Given the description of an element on the screen output the (x, y) to click on. 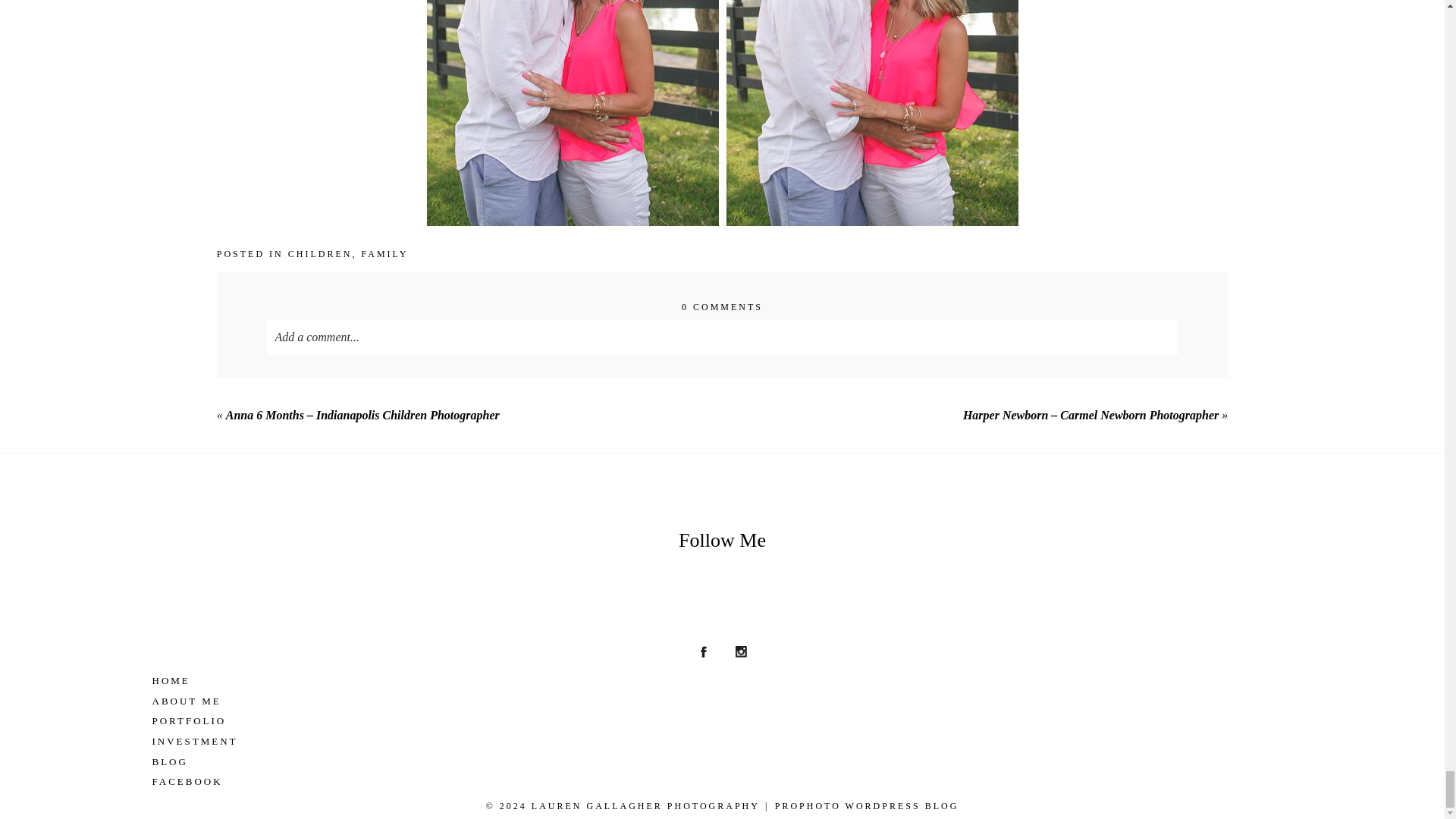
CHILDREN (320, 253)
ABOUT ME (722, 701)
ProPhoto Photography Blog (866, 805)
INVESTMENT (722, 742)
BLOG (722, 762)
FACEBOOK (722, 782)
FAMILY (384, 253)
PORTFOLIO (722, 721)
PROPHOTO WORDPRESS BLOG (866, 805)
HOME (722, 680)
